Given the description of an element on the screen output the (x, y) to click on. 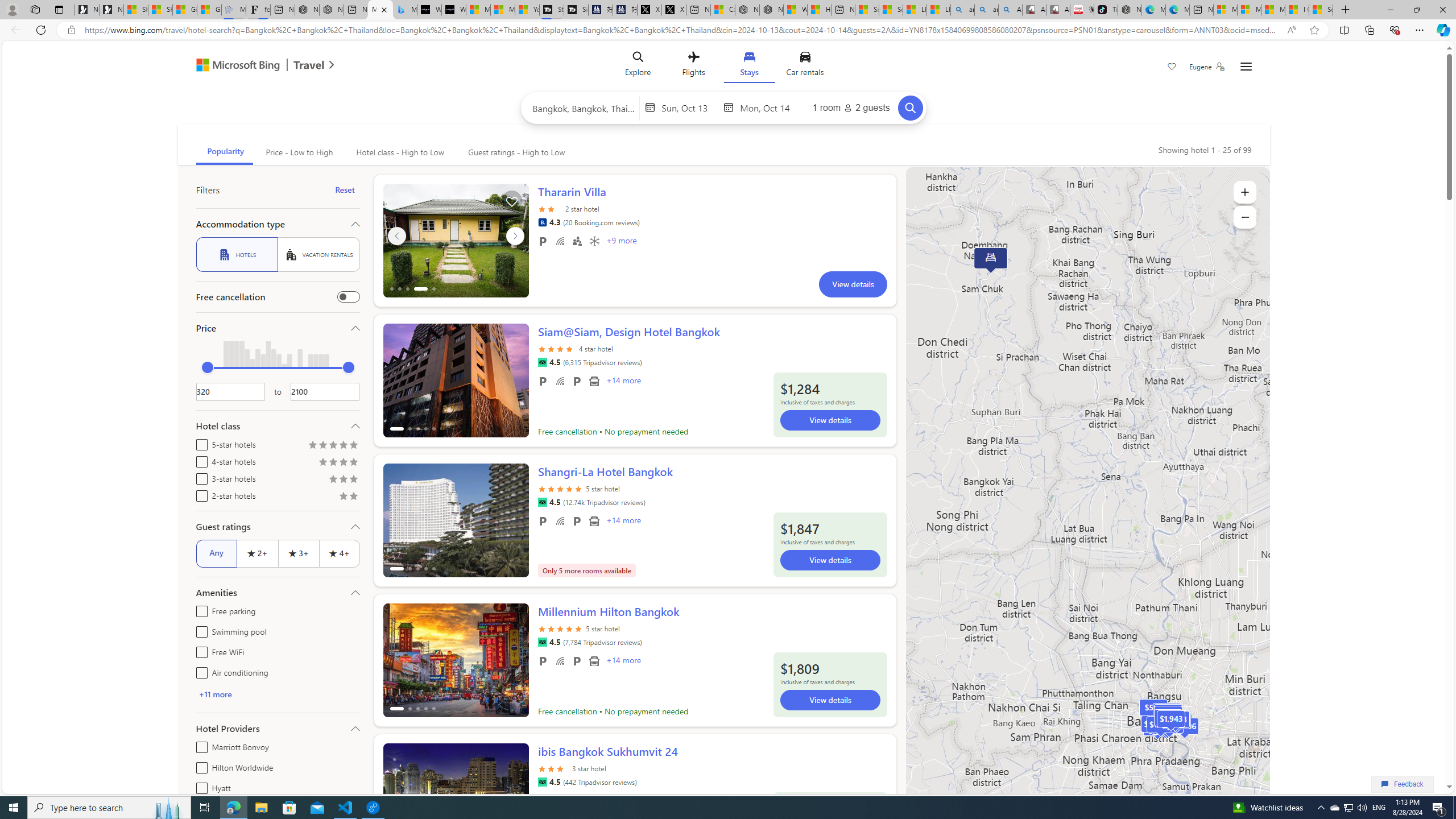
Guest ratings - High to Low (515, 152)
Nordace - Best Sellers (1129, 9)
Class: trvl-hub-header (723, 65)
ScrollRight (514, 795)
Read aloud this page (Ctrl+Shift+U) (1291, 29)
Hilton Worldwide (199, 765)
Swimming pool (199, 629)
Save (1171, 67)
Close (1442, 9)
Accommodation type (277, 223)
All Cubot phones (1057, 9)
Copilot (Ctrl+Shift+.) (1442, 29)
